Given the description of an element on the screen output the (x, y) to click on. 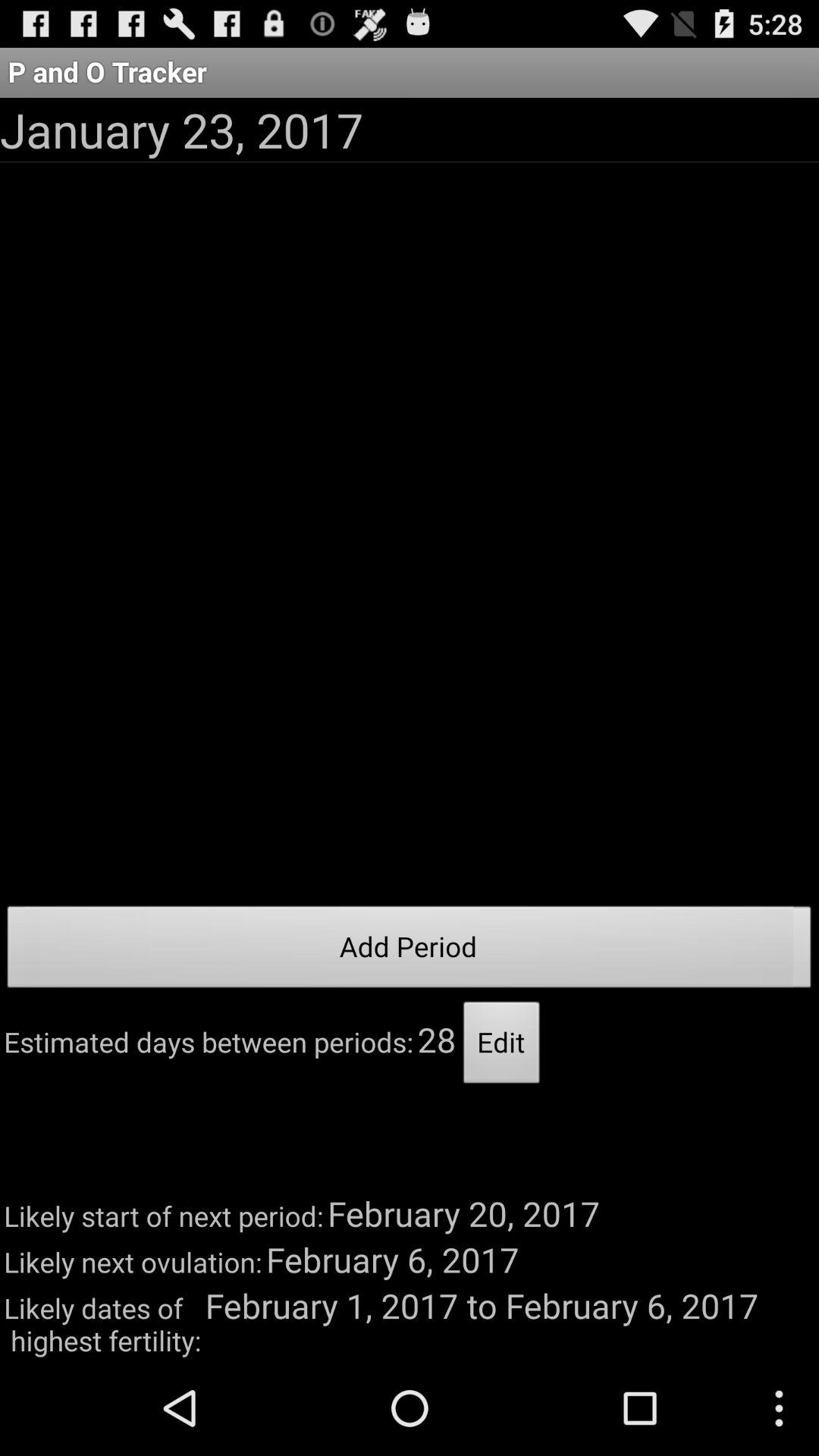
choose button below the add period icon (501, 1046)
